Given the description of an element on the screen output the (x, y) to click on. 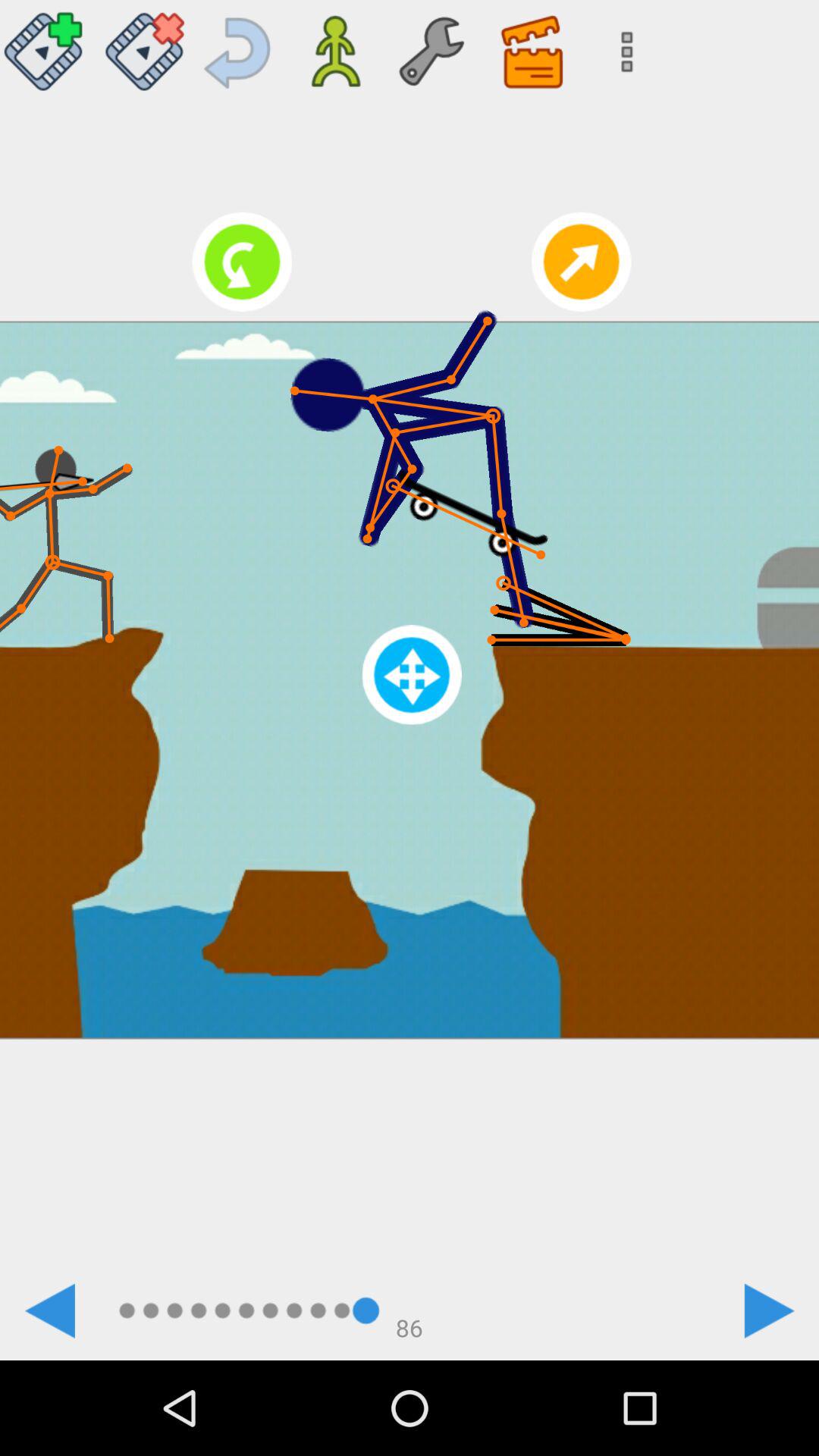
open tools (430, 45)
